Given the description of an element on the screen output the (x, y) to click on. 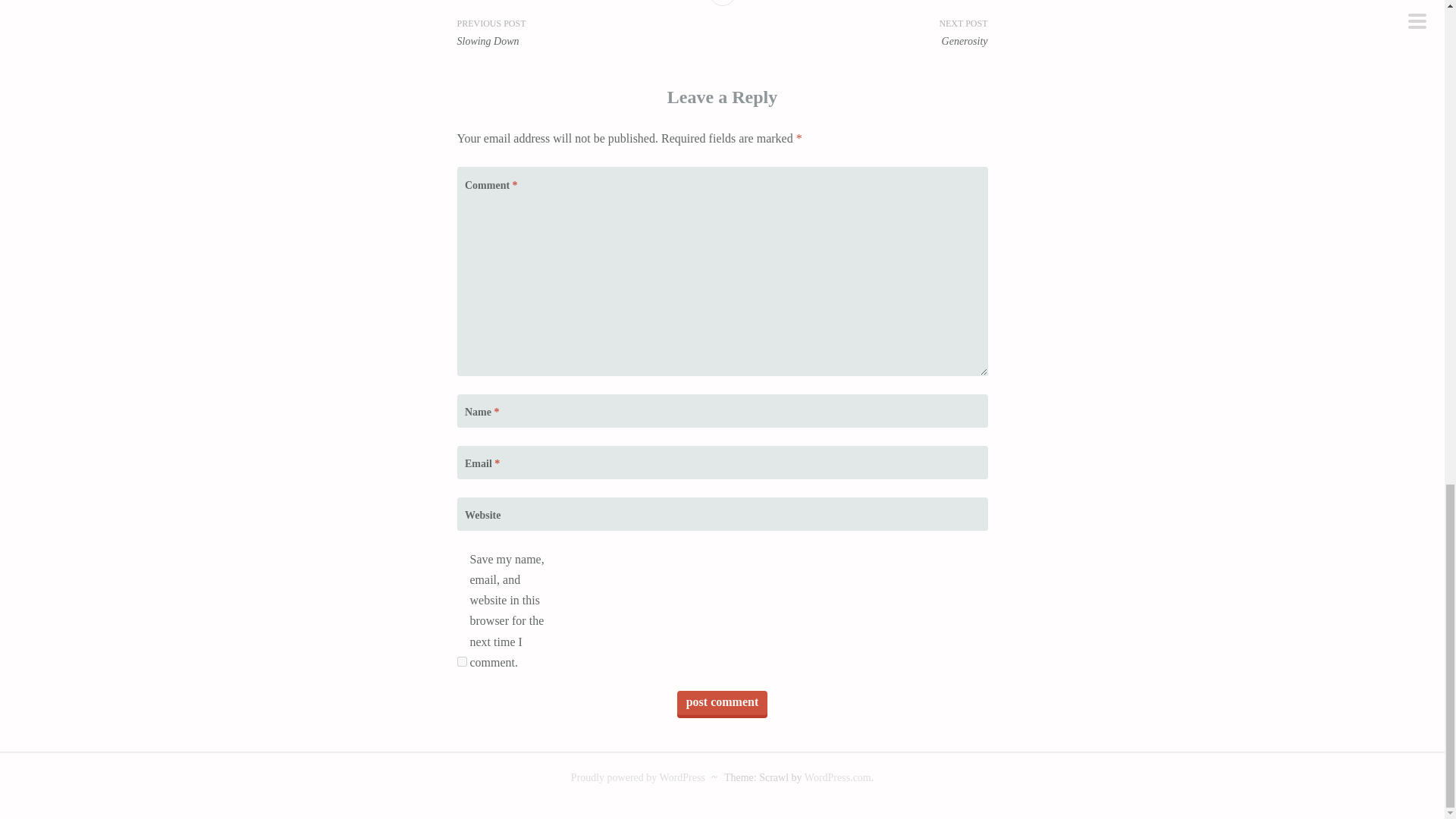
PREVIOUS POSTSlowing Down (589, 31)
yes (461, 661)
Post Comment (722, 702)
NEXT POSTGenerosity (854, 31)
0 (722, 2)
